Given the description of an element on the screen output the (x, y) to click on. 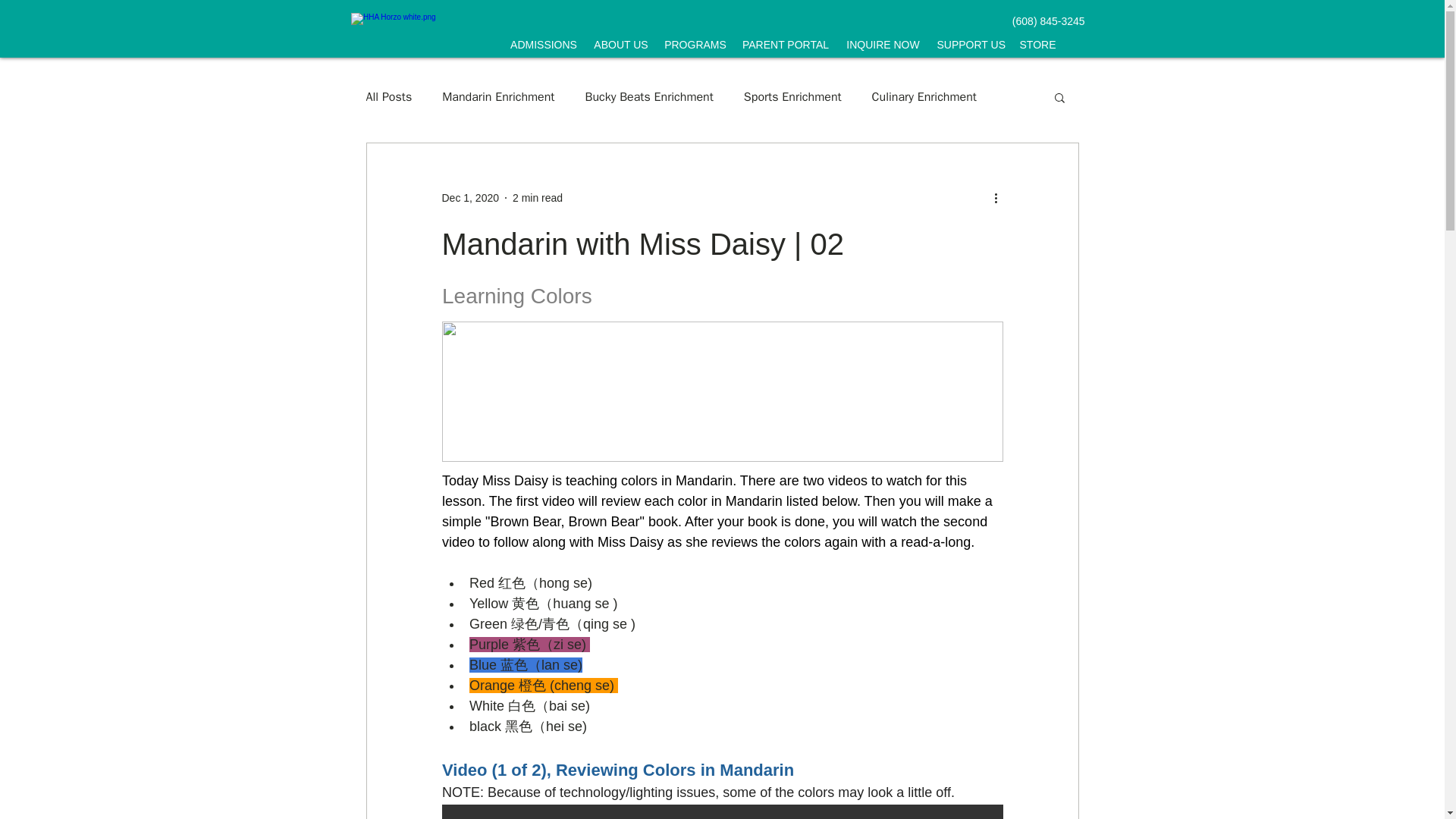
Sports Enrichment (792, 97)
INQUIRE NOW (883, 44)
ABOUT US (620, 44)
STORE (1036, 44)
Dec 1, 2020 (470, 196)
Bucky Beats Enrichment (649, 97)
PROGRAMS (695, 44)
Mandarin Enrichment (498, 97)
PARENT PORTAL (784, 44)
2 min read (537, 196)
SUPPORT US (970, 44)
Culinary Enrichment (924, 97)
ADMISSIONS (544, 44)
All Posts (388, 97)
